Given the description of an element on the screen output the (x, y) to click on. 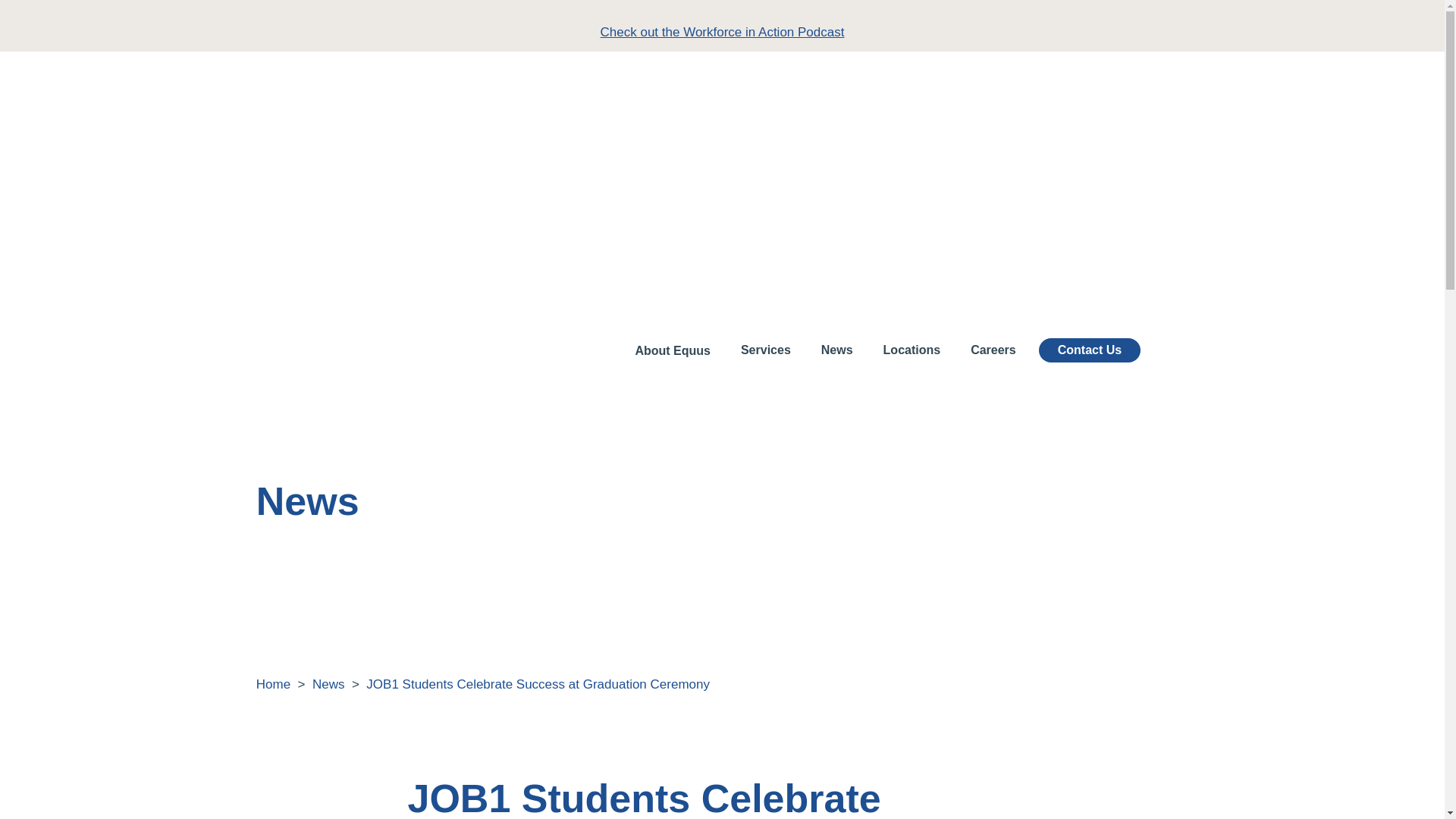
Locations (912, 350)
News (836, 350)
Contact Us (1089, 350)
Home (272, 684)
News (329, 684)
Services (765, 350)
Check out the Workforce in Action Podcast (721, 32)
About Equus (672, 351)
Careers (992, 350)
